Given the description of an element on the screen output the (x, y) to click on. 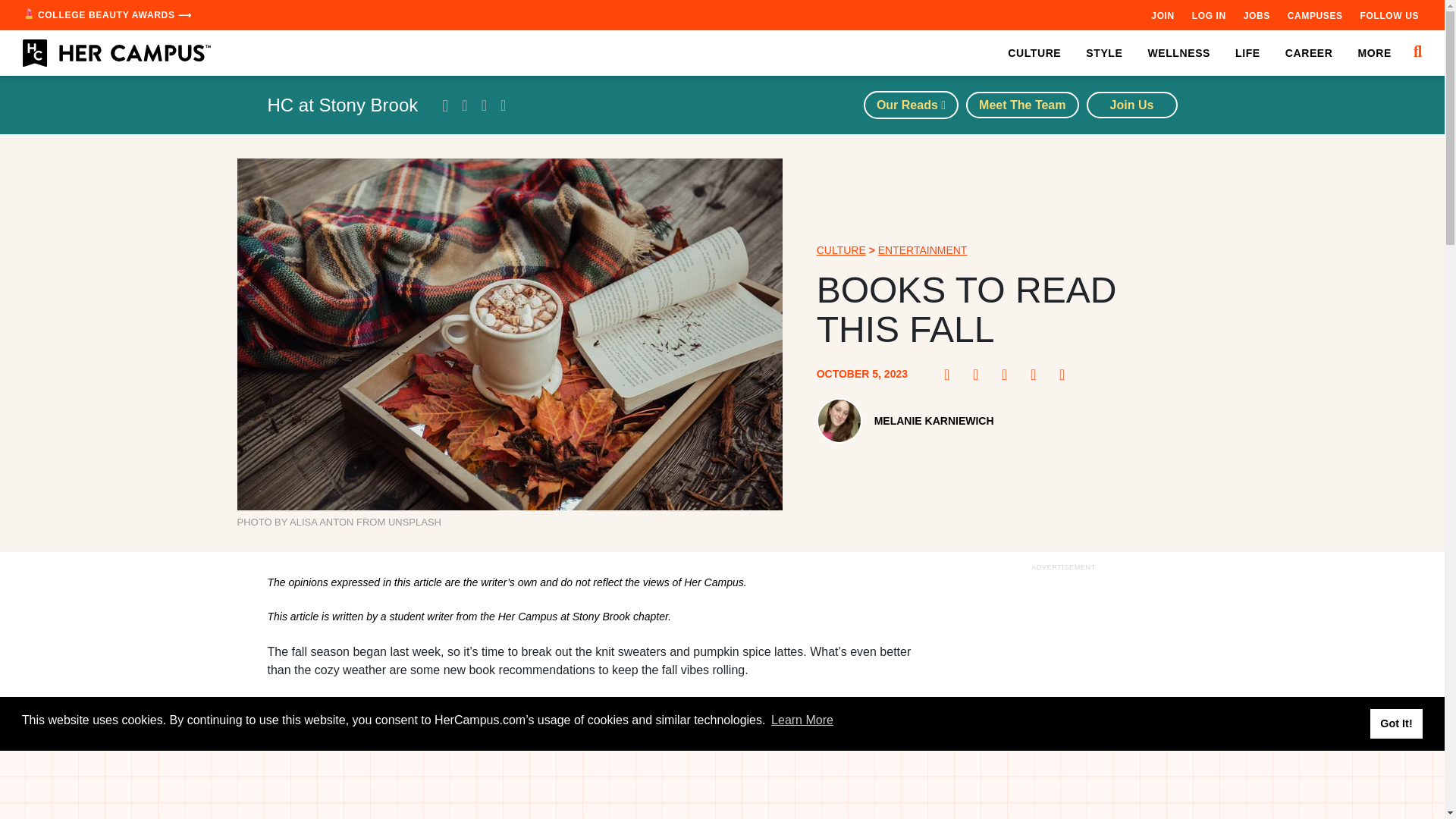
3rd party ad content (1062, 696)
LinkedIn (1037, 374)
Email (1066, 374)
Twitter (1008, 374)
Got It! (1396, 723)
3rd party ad content (722, 785)
Pinterest (980, 374)
JOIN (1162, 15)
CAMPUSES (1314, 15)
Facebook (951, 374)
JOBS (1256, 15)
LOG IN (1208, 15)
